Given the description of an element on the screen output the (x, y) to click on. 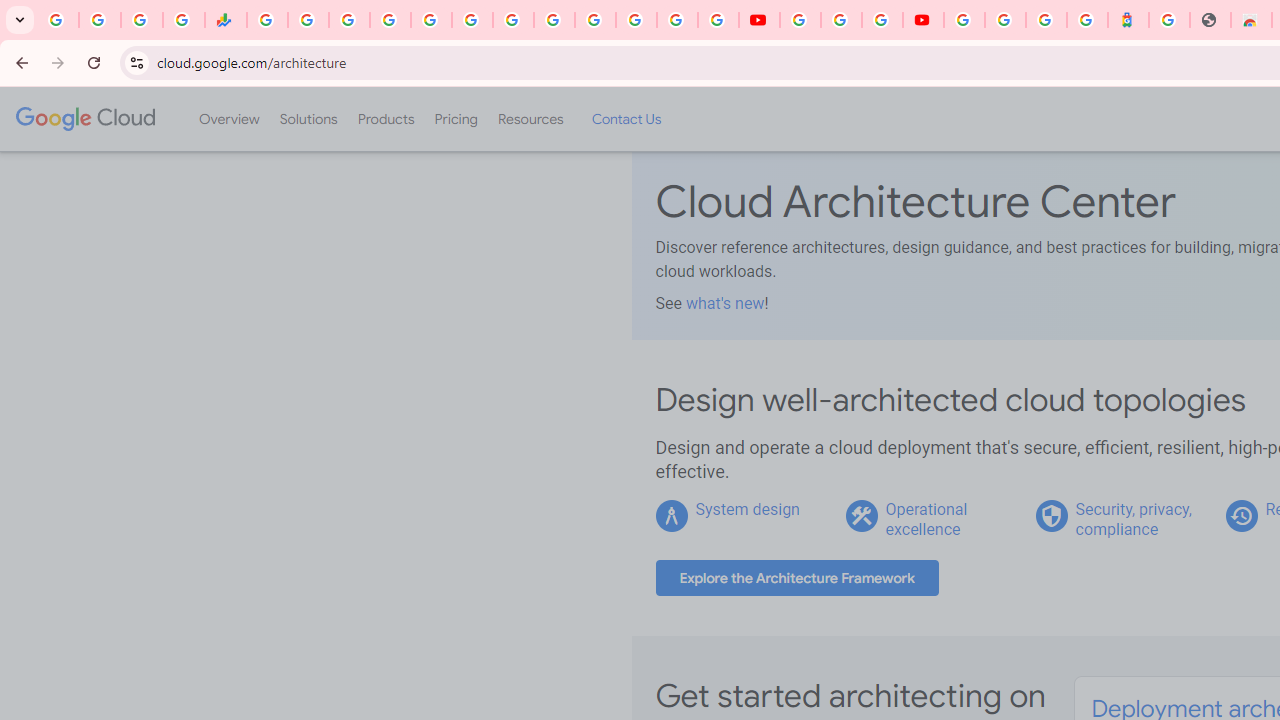
Android TV Policies and Guidelines - Transparency Center (512, 20)
Content Creator Programs & Opportunities - YouTube Creators (923, 20)
Google Cloud (84, 118)
Security, privacy, compliance (1133, 519)
Sign in - Google Accounts (964, 20)
Google Account Help (840, 20)
Operational excellence (925, 519)
